Given the description of an element on the screen output the (x, y) to click on. 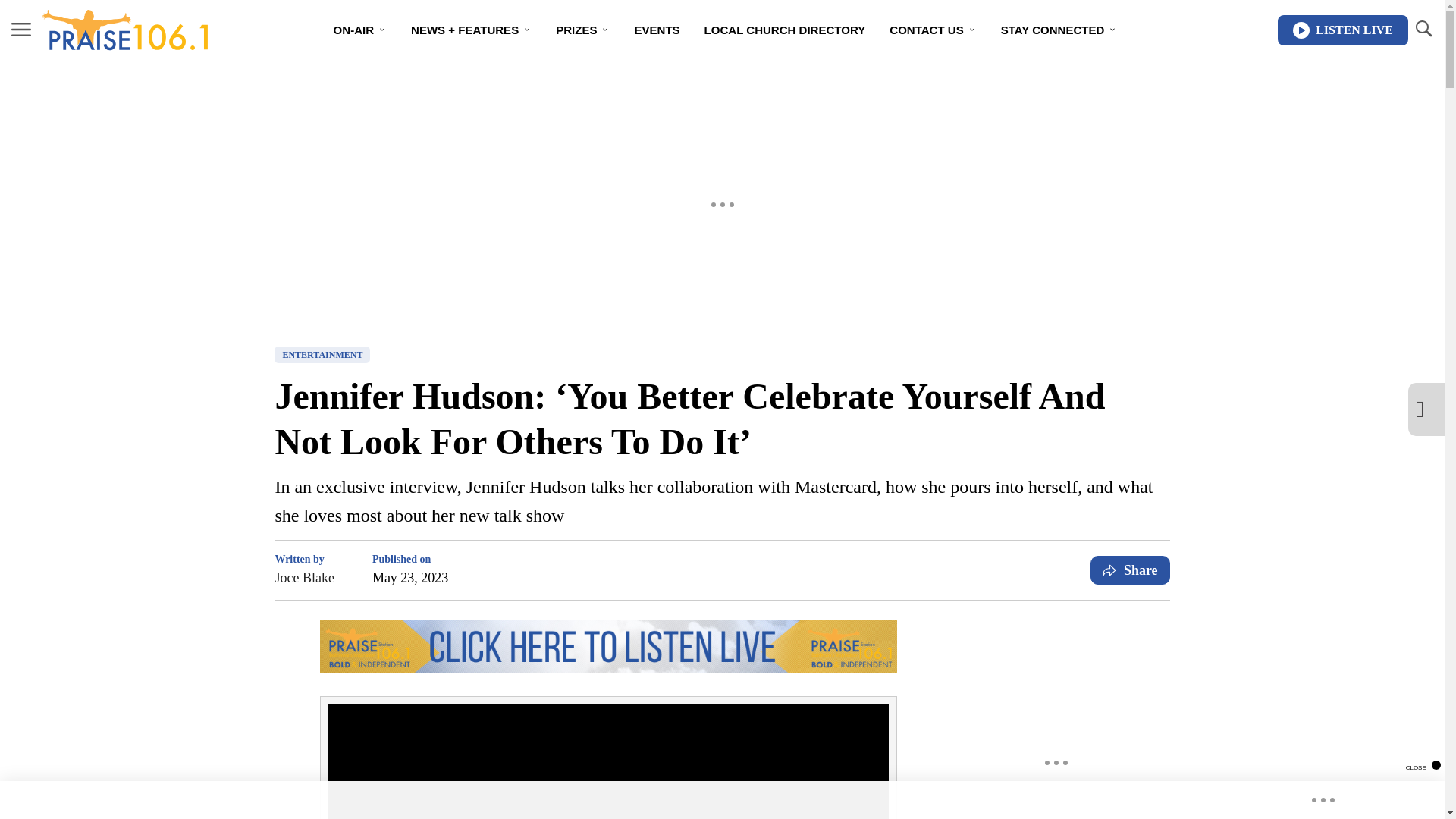
MENU (20, 30)
LOCAL ARTIST SPOTLIGHT (725, 82)
CONTACT US (932, 30)
TOGGLE SEARCH (1422, 28)
STAY CONNECTED (1058, 30)
LISTEN LIVE (1342, 30)
ON-AIR (359, 30)
LOCAL CHURCH DIRECTORY (785, 30)
PRIZES (582, 30)
EVENTS (656, 30)
